Given the description of an element on the screen output the (x, y) to click on. 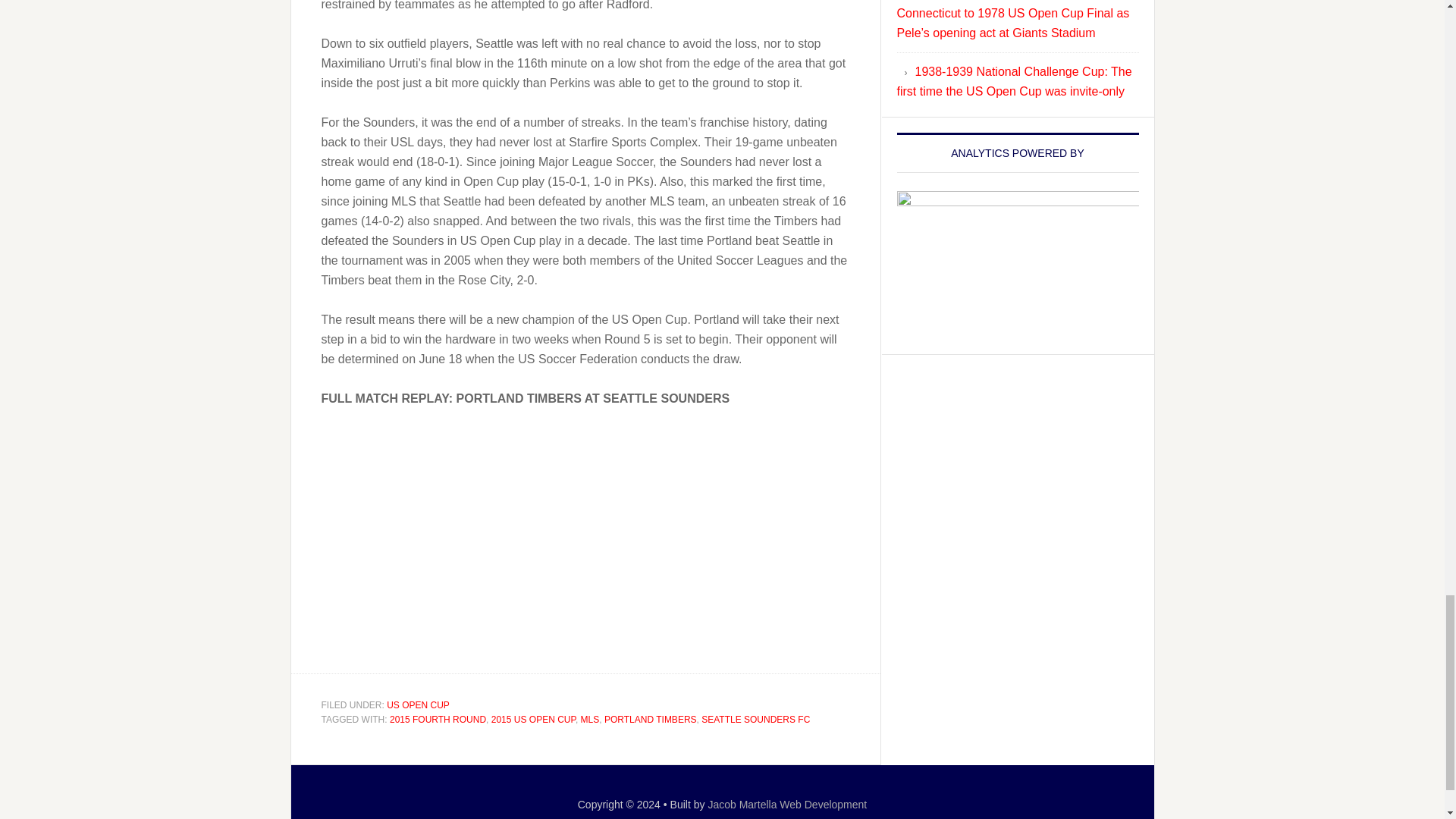
SEATTLE SOUNDERS FC (755, 719)
2015 FOURTH ROUND (438, 719)
MLS (589, 719)
Jacob Martella Web Development (786, 803)
PORTLAND TIMBERS (650, 719)
US OPEN CUP (418, 704)
2015 US OPEN CUP (533, 719)
